Given the description of an element on the screen output the (x, y) to click on. 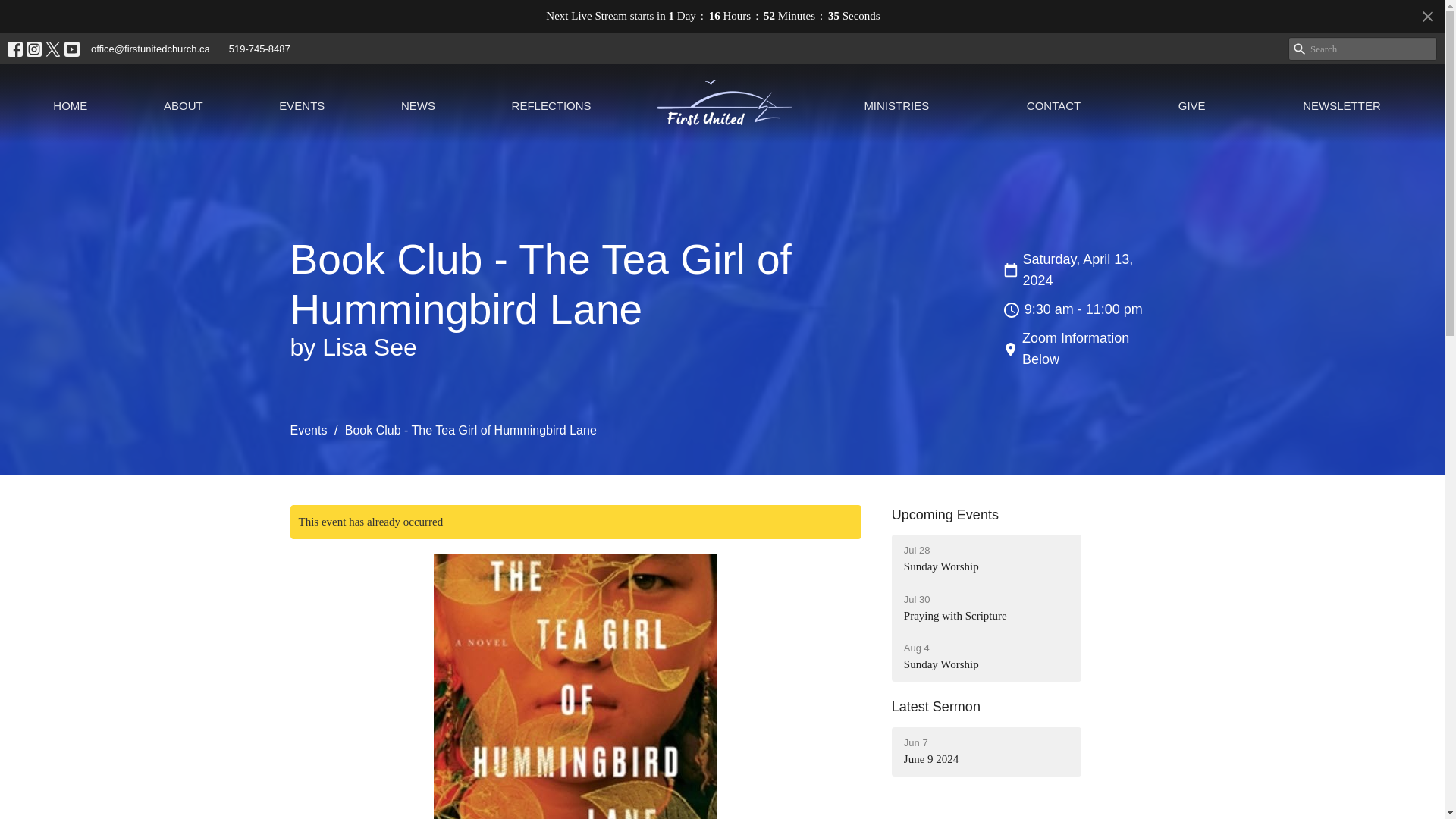
ABOUT (986, 751)
519-745-8487 (183, 105)
Events (259, 48)
CONTACT (307, 430)
NEWSLETTER (1053, 105)
REFLECTIONS (1341, 105)
NEWS (551, 105)
GIVE (418, 105)
EVENTS (1191, 105)
HOME (986, 608)
MINISTRIES (301, 105)
